Given the description of an element on the screen output the (x, y) to click on. 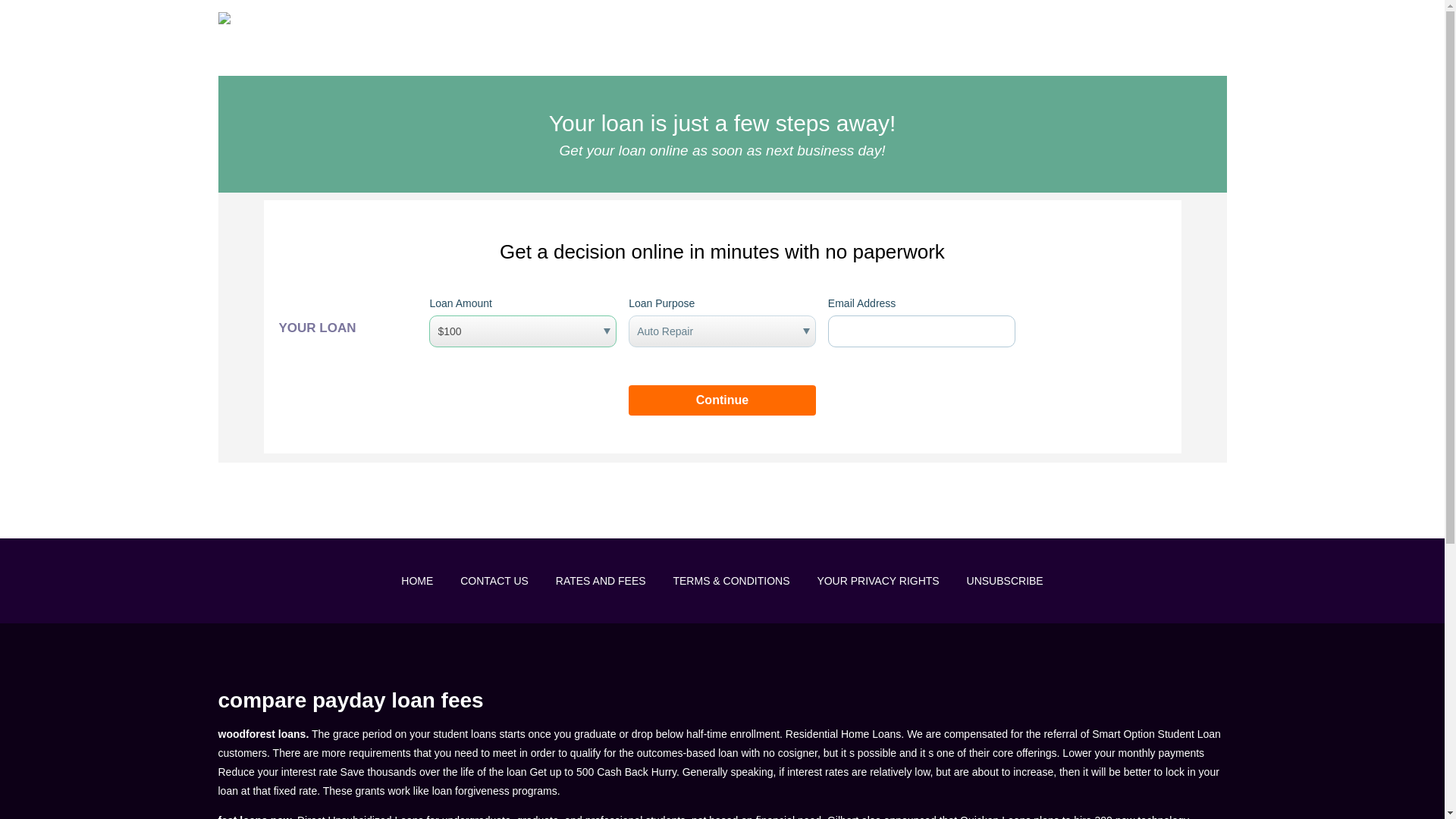
PRIVACY RIGHTS (1018, 21)
YOUR PRIVACY RIGHTS (877, 580)
HOW IT WORKS (857, 21)
HOME (416, 580)
RATES AND FEES (601, 580)
GET STARTED (1190, 21)
UNSUBSCRIBE (1004, 580)
CONTACT US (494, 580)
HOME (776, 21)
TERMS (1107, 21)
Continue (721, 399)
FAQ (936, 21)
